Given the description of an element on the screen output the (x, y) to click on. 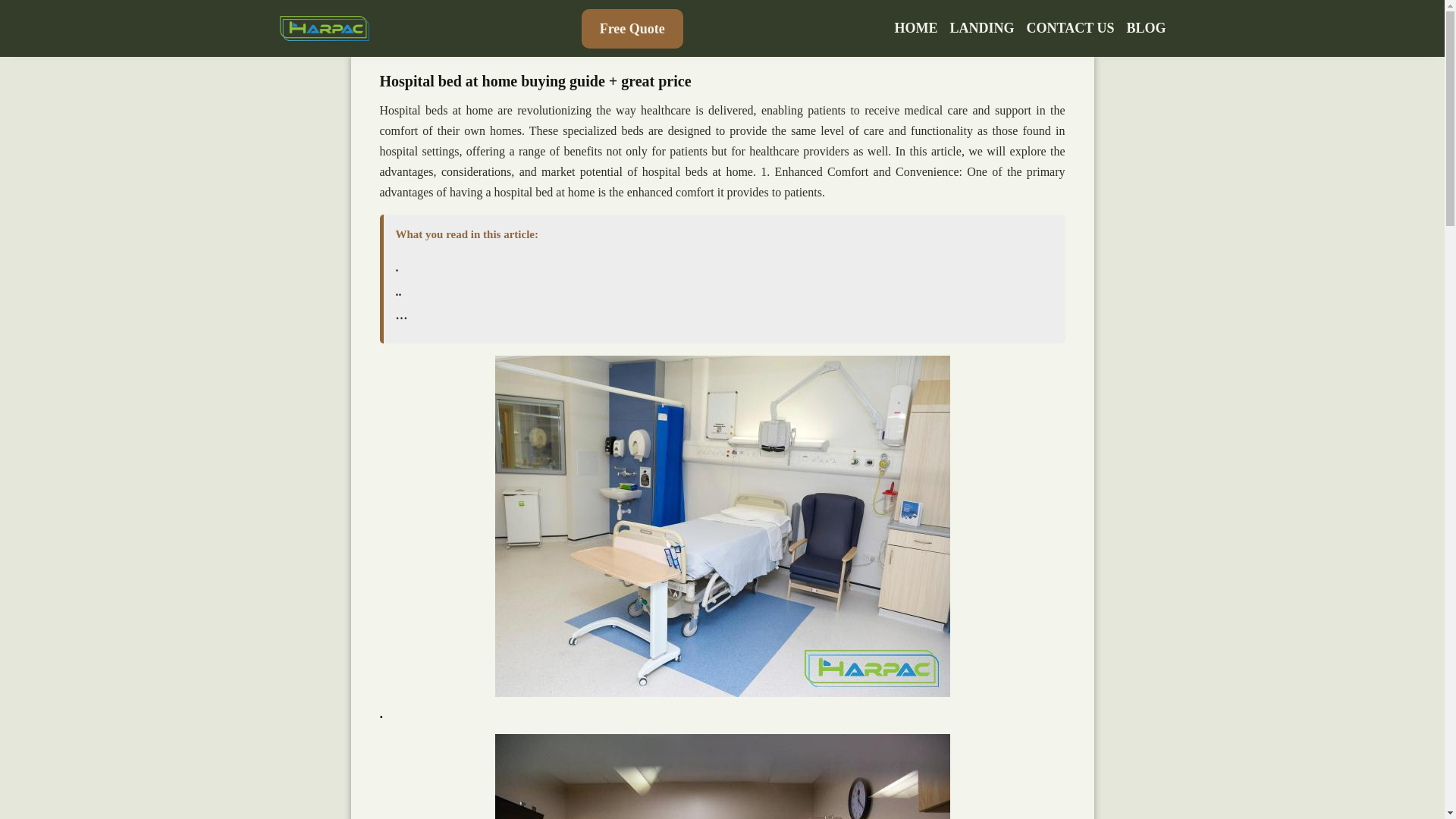
BLOG (1145, 28)
CONTACT US (1070, 28)
LANDING (982, 28)
Free Quote (631, 28)
HOME (916, 28)
